Given the description of an element on the screen output the (x, y) to click on. 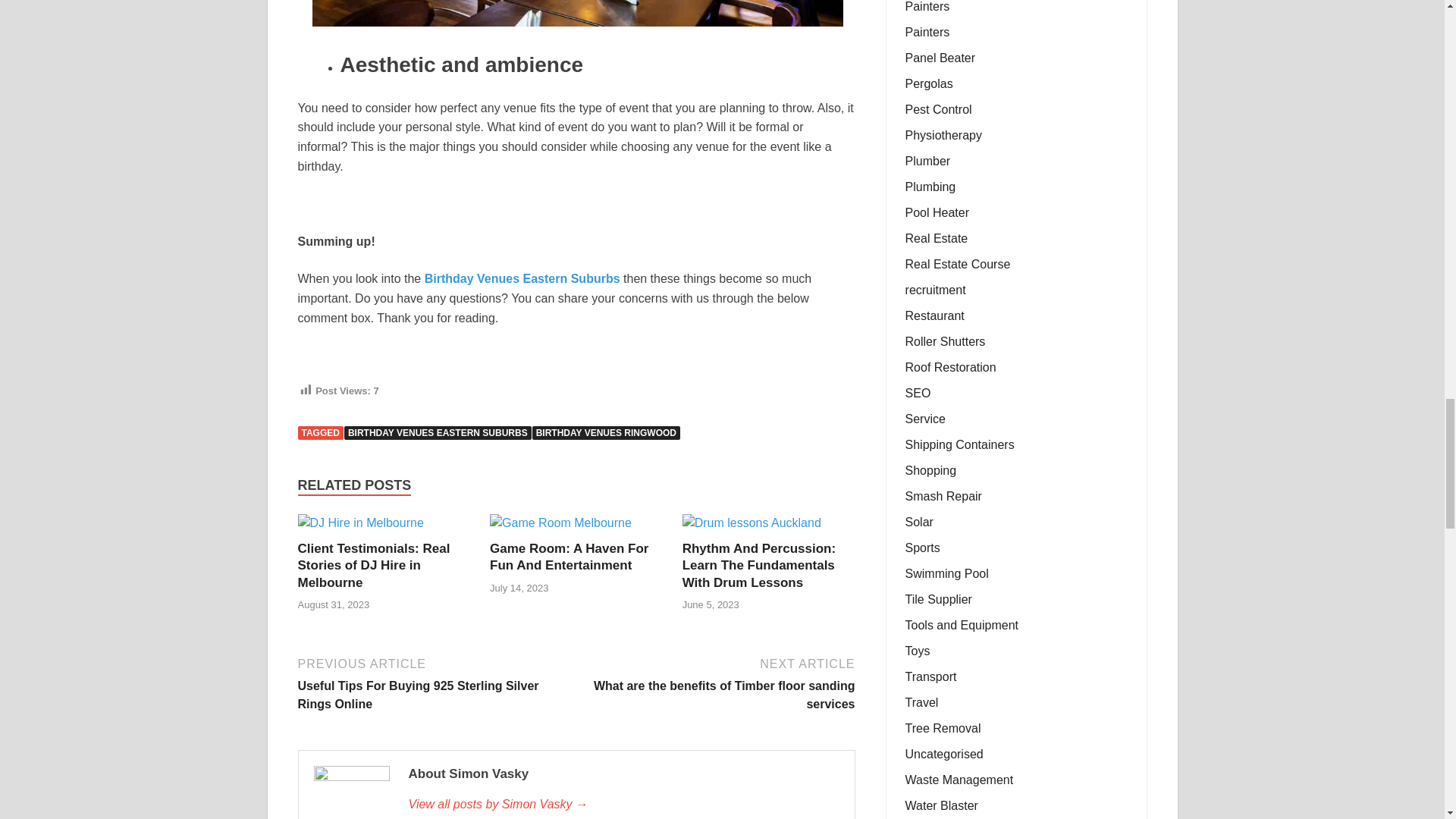
Birthday Venues Eastern Suburbs (522, 278)
Client Testimonials: Real Stories of DJ Hire in Melbourne (373, 564)
Game Room: A Haven For Fun And Entertainment (560, 522)
BIRTHDAY VENUES RINGWOOD (605, 432)
BIRTHDAY VENUES EASTERN SUBURBS (437, 432)
Birthday Venues (578, 13)
Game Room: A Haven For Fun And Entertainment (568, 556)
Client Testimonials: Real Stories of DJ Hire in Melbourne (360, 522)
Game Room: A Haven For Fun And Entertainment (568, 556)
Birthday Venues Eastern Suburbs (522, 278)
Client Testimonials: Real Stories of DJ Hire in Melbourne (373, 564)
